Given the description of an element on the screen output the (x, y) to click on. 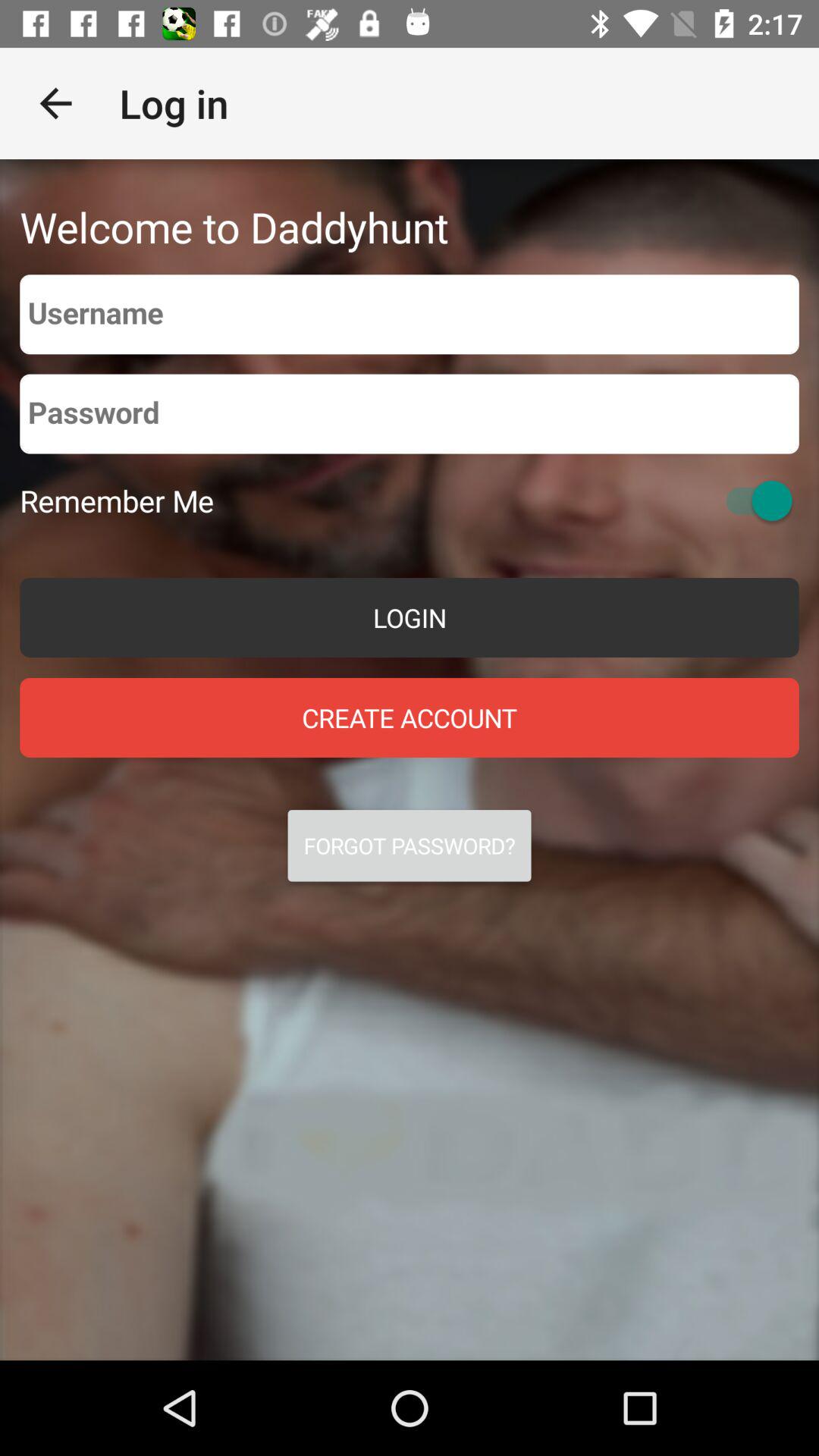
turn on item to the left of the log in app (55, 103)
